Given the description of an element on the screen output the (x, y) to click on. 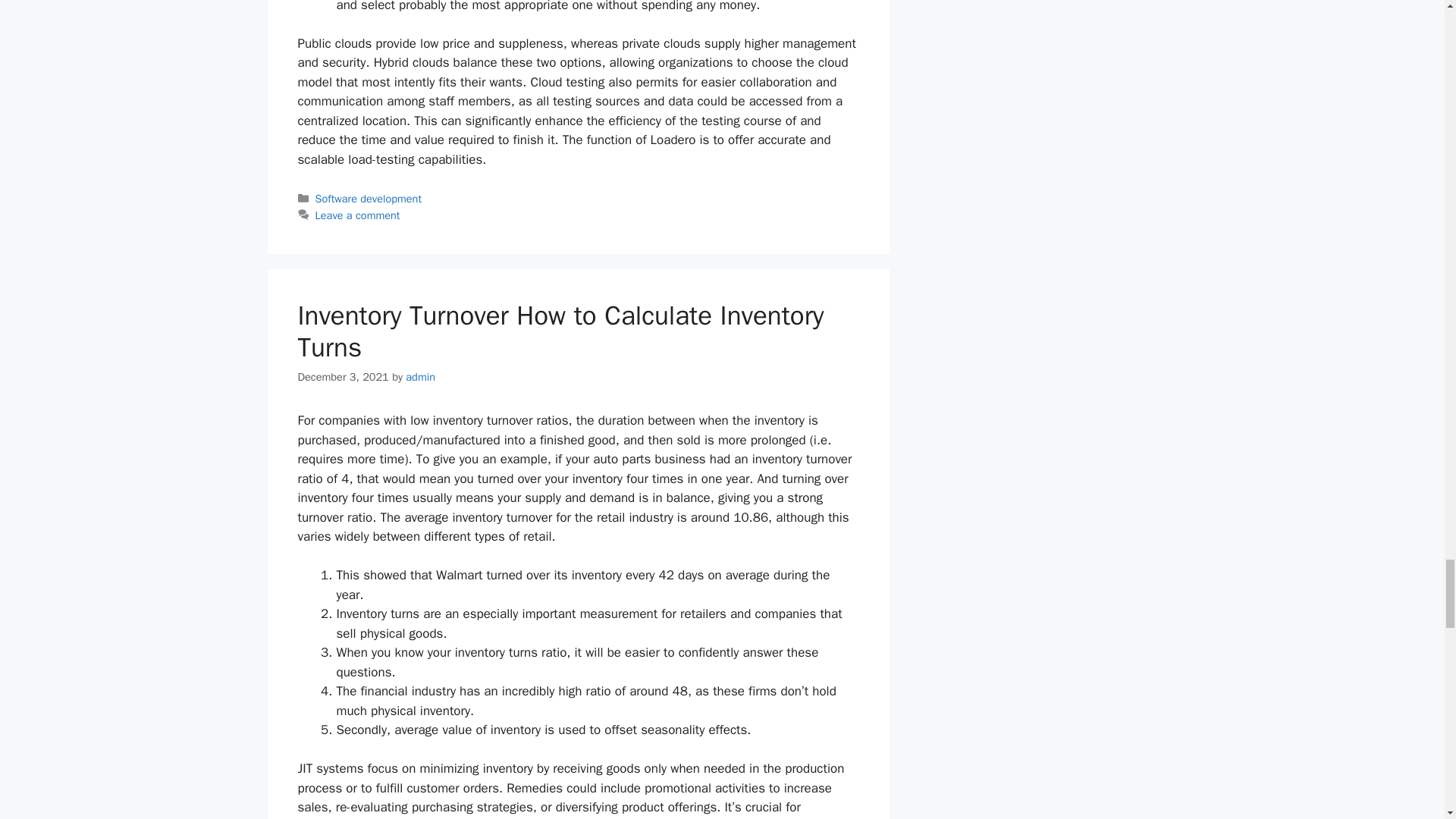
View all posts by admin (420, 377)
